Given the description of an element on the screen output the (x, y) to click on. 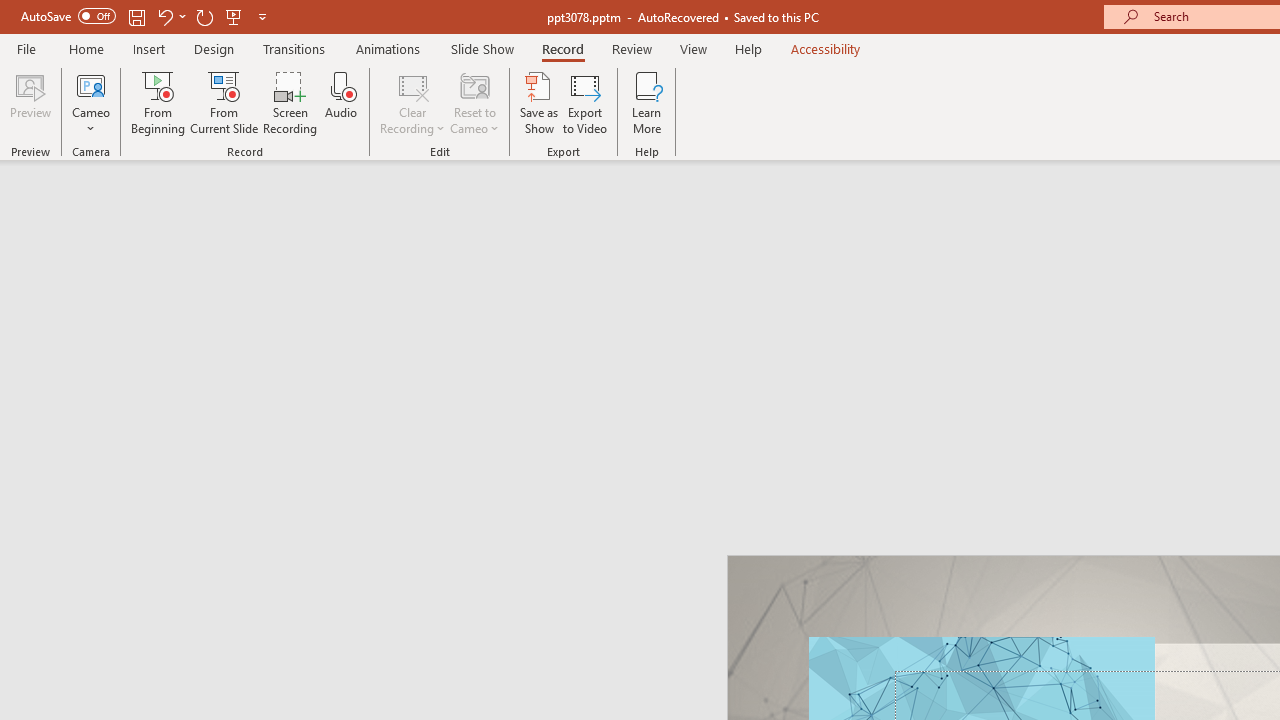
Transitions (294, 48)
Screen Recording (290, 102)
Redo (204, 15)
Customize Quick Access Toolbar (262, 15)
From Current Slide... (224, 102)
Save as Show (539, 102)
File Tab (26, 48)
Preview (30, 102)
Cameo (91, 102)
View (693, 48)
Quick Access Toolbar (145, 16)
Clear Recording (412, 102)
